Given the description of an element on the screen output the (x, y) to click on. 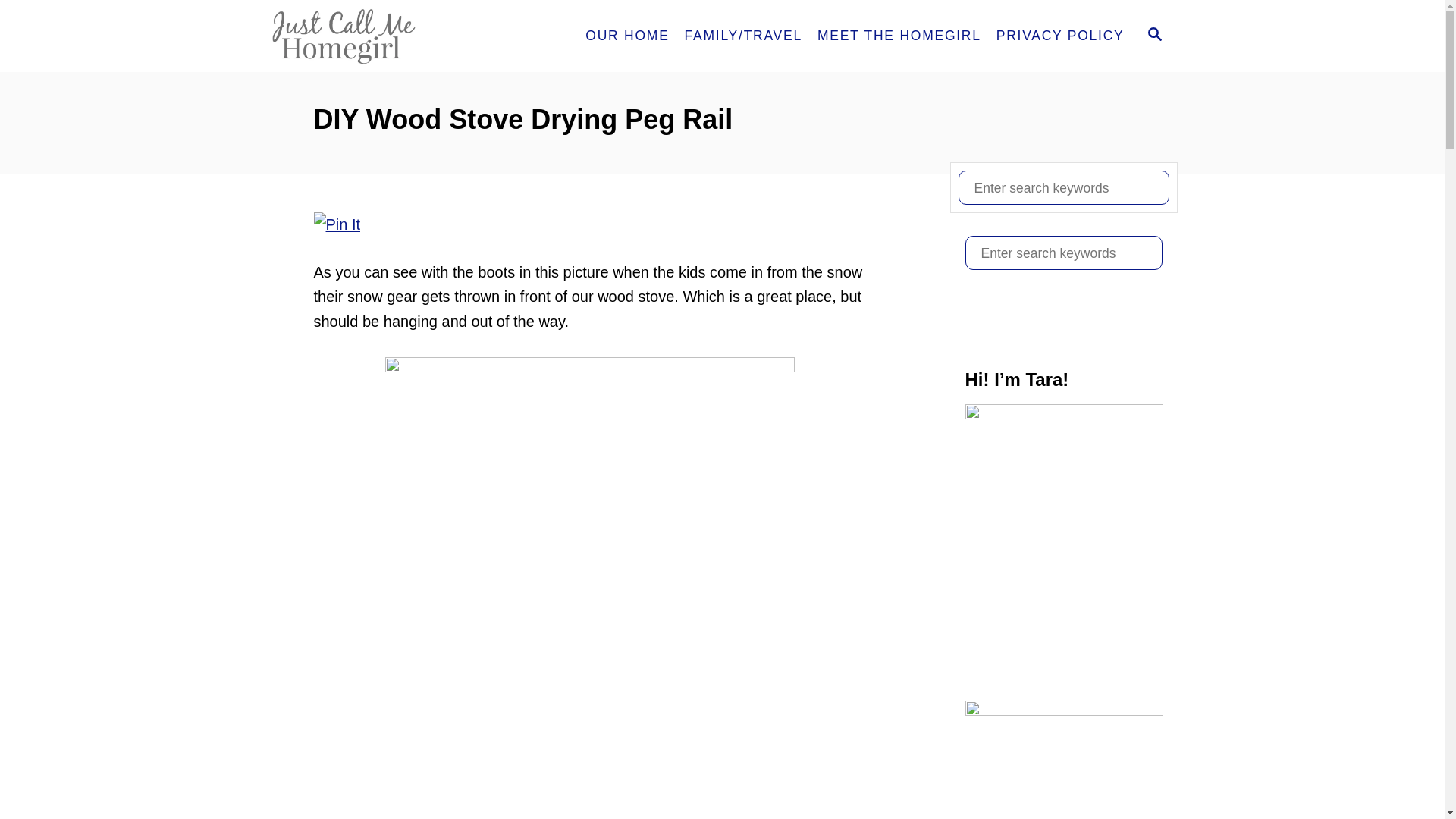
Pin It (337, 224)
Search for: (1063, 187)
PRIVACY POLICY (1060, 36)
Just Call Me Homegirl (400, 36)
OUR HOME (627, 36)
SEARCH (1154, 35)
MEET THE HOMEGIRL (898, 36)
Search (22, 22)
Search for: (1062, 252)
